Given the description of an element on the screen output the (x, y) to click on. 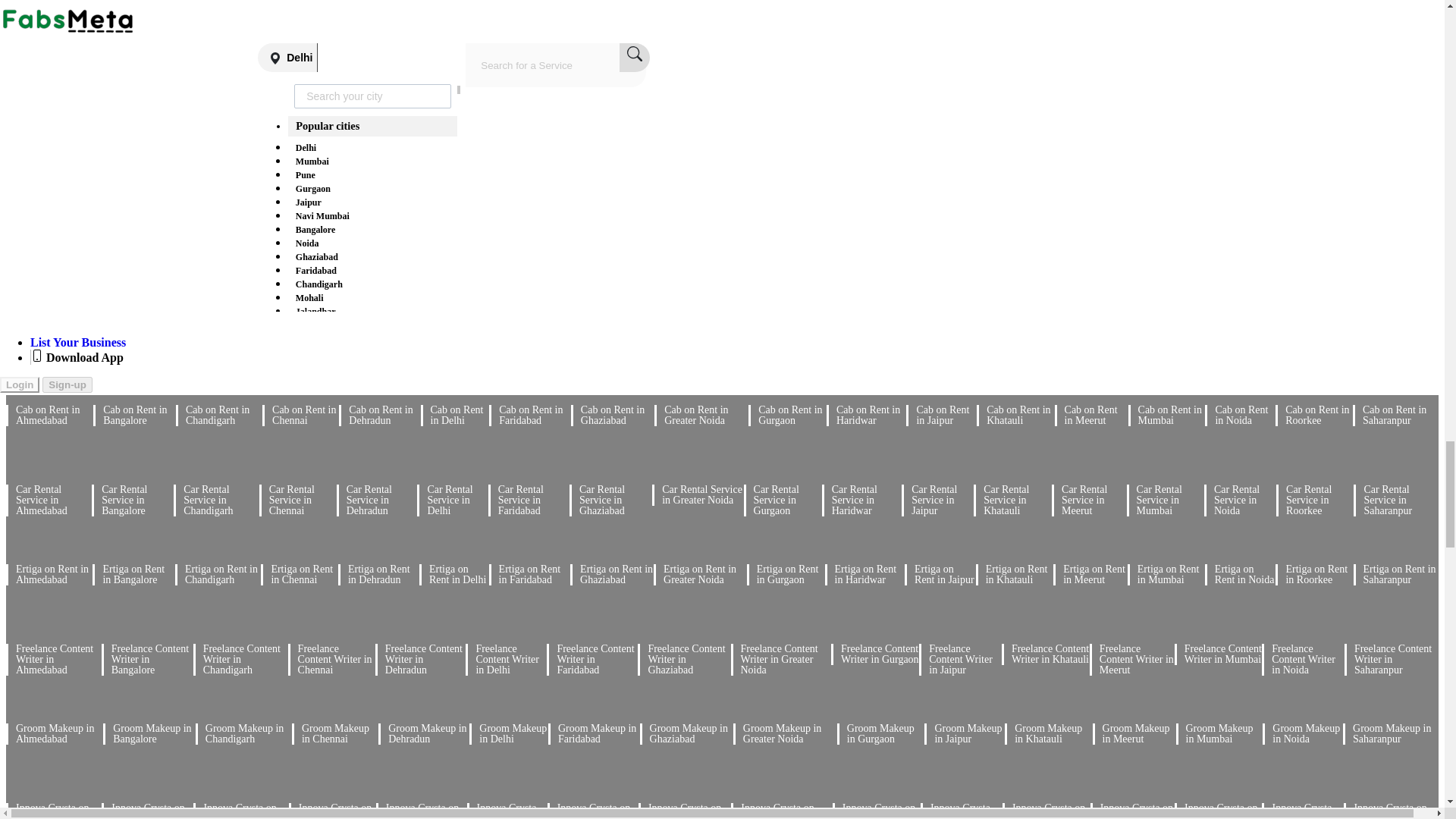
Get trendy beauty care at home with online beauty services (550, 35)
Get trendy beauty care at home with online beauty services (500, 35)
